Given the description of an element on the screen output the (x, y) to click on. 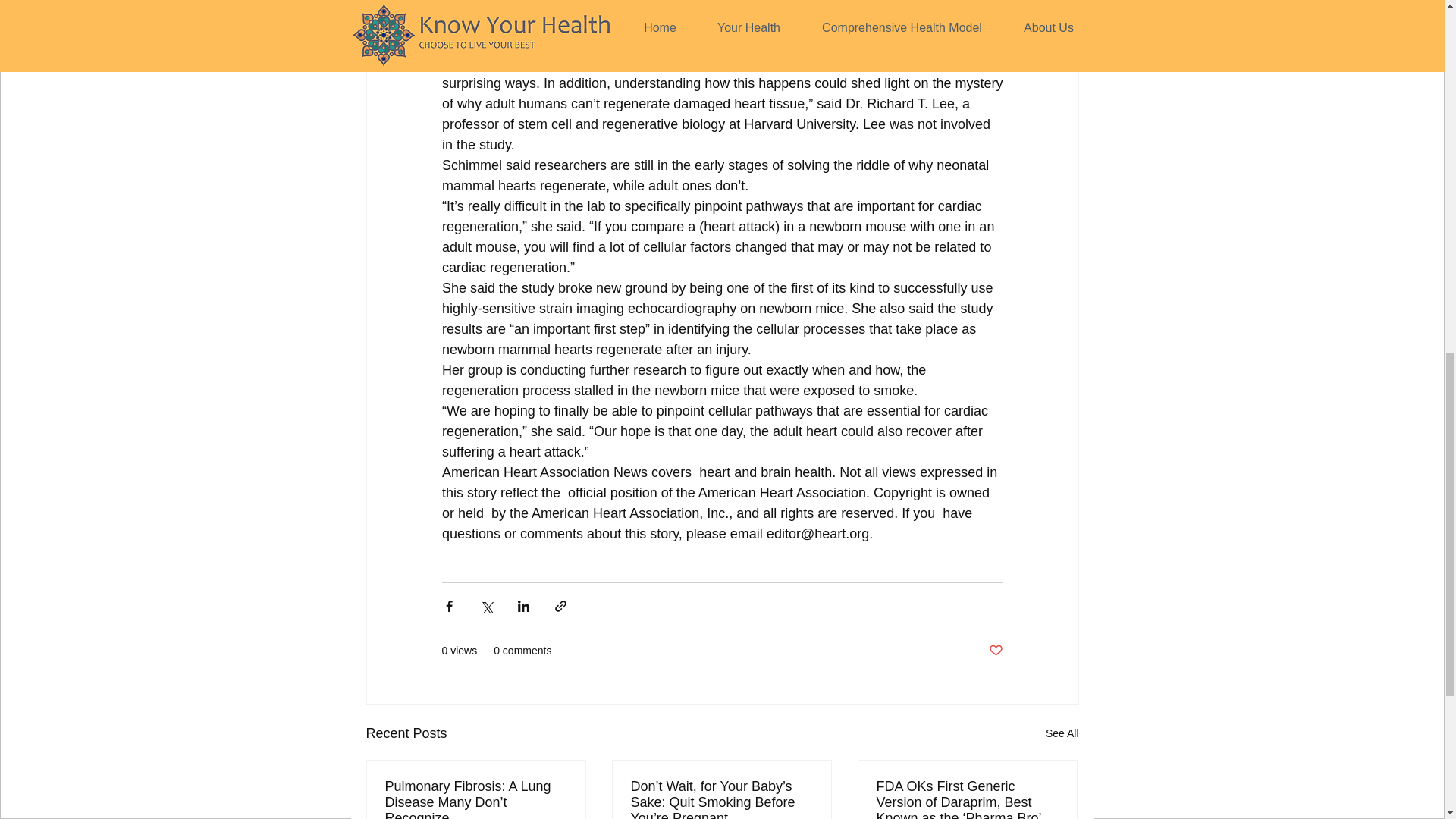
See All (1061, 733)
Post not marked as liked (995, 650)
